Given the description of an element on the screen output the (x, y) to click on. 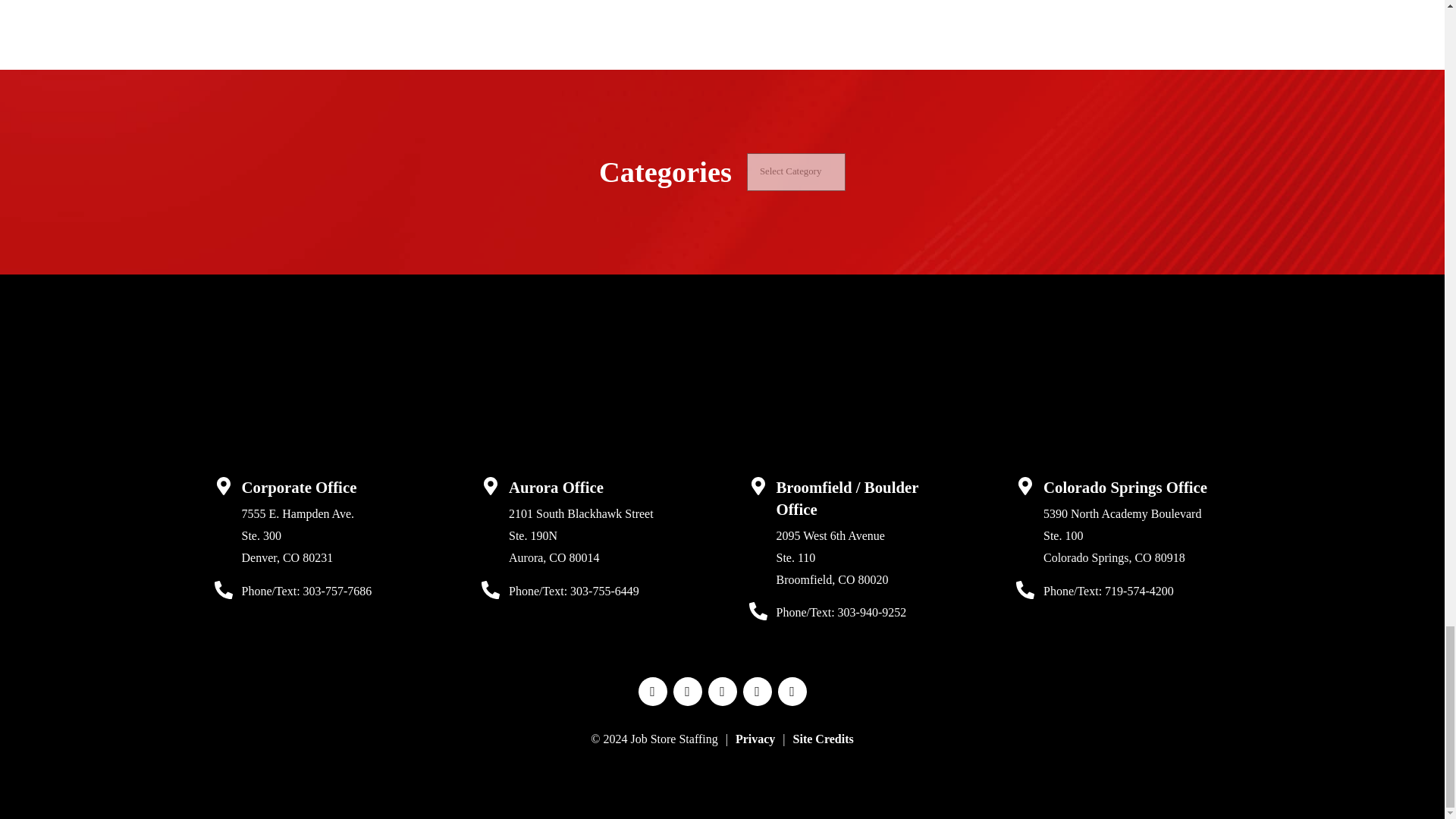
Follow Job Store Staffing on Facebook (652, 691)
Follow Job Store Staffing on Instagram (756, 691)
Connect with Job Store Staffing on LinkedIn (686, 691)
Connect with Job Store Staffing on LinkedIn (686, 691)
Follow Job Store Staffing on Facebook (652, 691)
Subscribe to Job Store Staffing on YouTube (721, 691)
Follow Job Store Staffing on TikTok (791, 691)
Subscribe to Job Store Staffing on YouTube (721, 691)
Follow Job Store Staffing on TikTok (791, 691)
Follow Job Store Staffing on Instagram (756, 691)
